Given the description of an element on the screen output the (x, y) to click on. 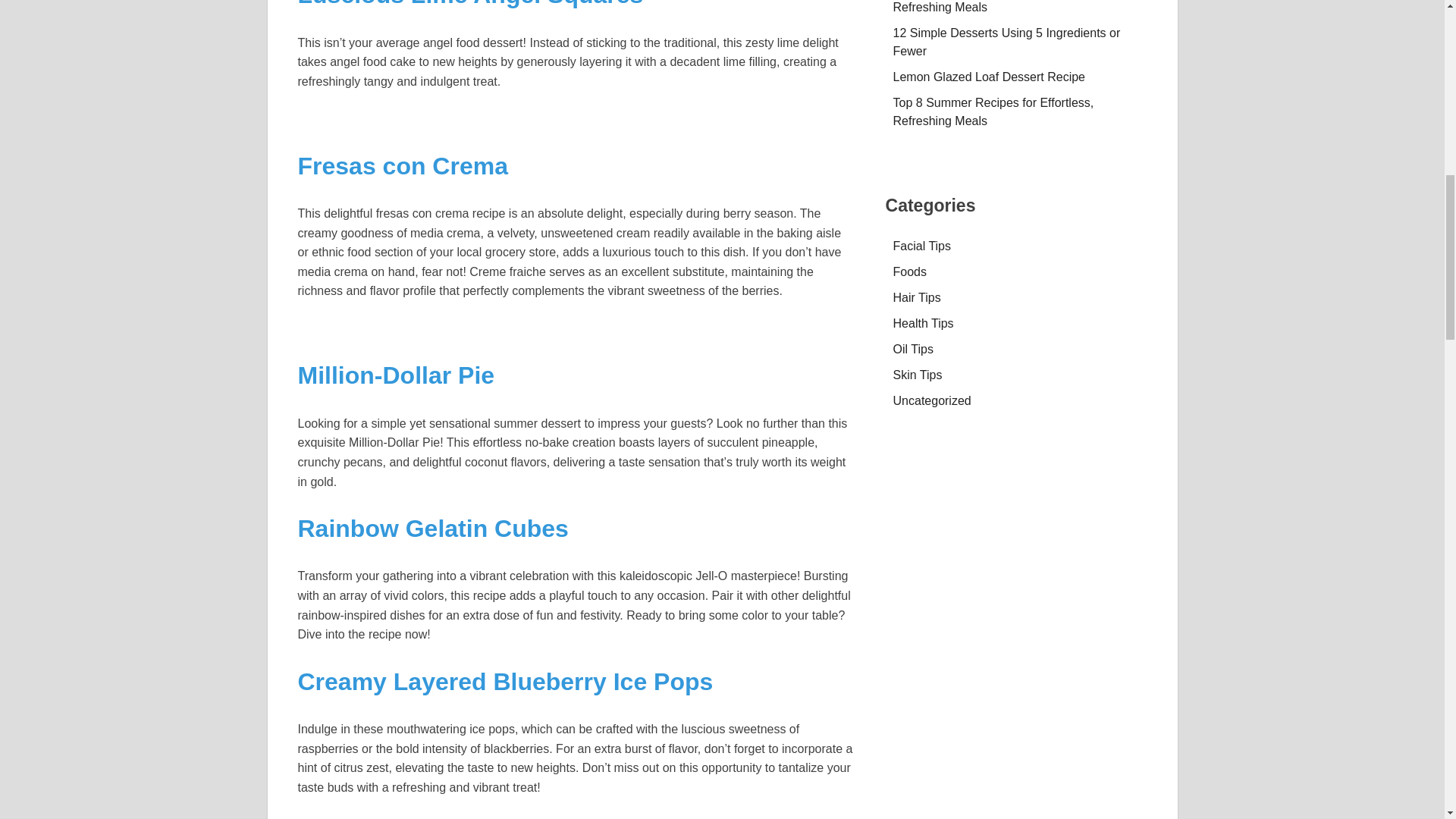
Rainbow Gelatin Cubes (432, 528)
Million-Dollar Pie (396, 375)
Creamy Layered Blueberry Ice Pops (505, 681)
Luscious Lime Angel Squares (470, 4)
Fresas con Crema (401, 165)
